Given the description of an element on the screen output the (x, y) to click on. 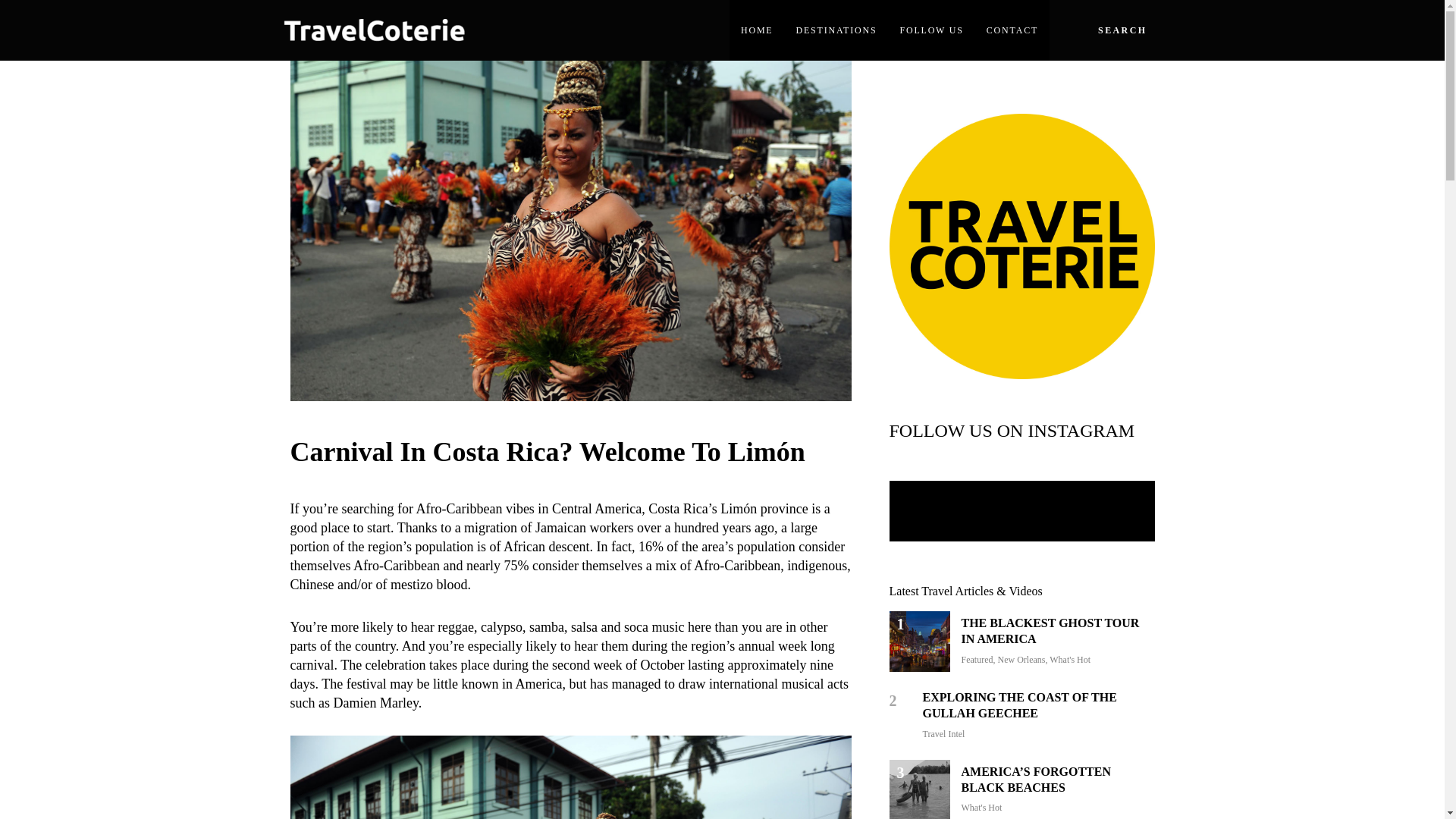
FOLLOW US (931, 30)
TRAVELCOTERIE (395, 53)
DESTINATIONS (836, 30)
CONTACT (1012, 30)
HOME (756, 30)
